Given the description of an element on the screen output the (x, y) to click on. 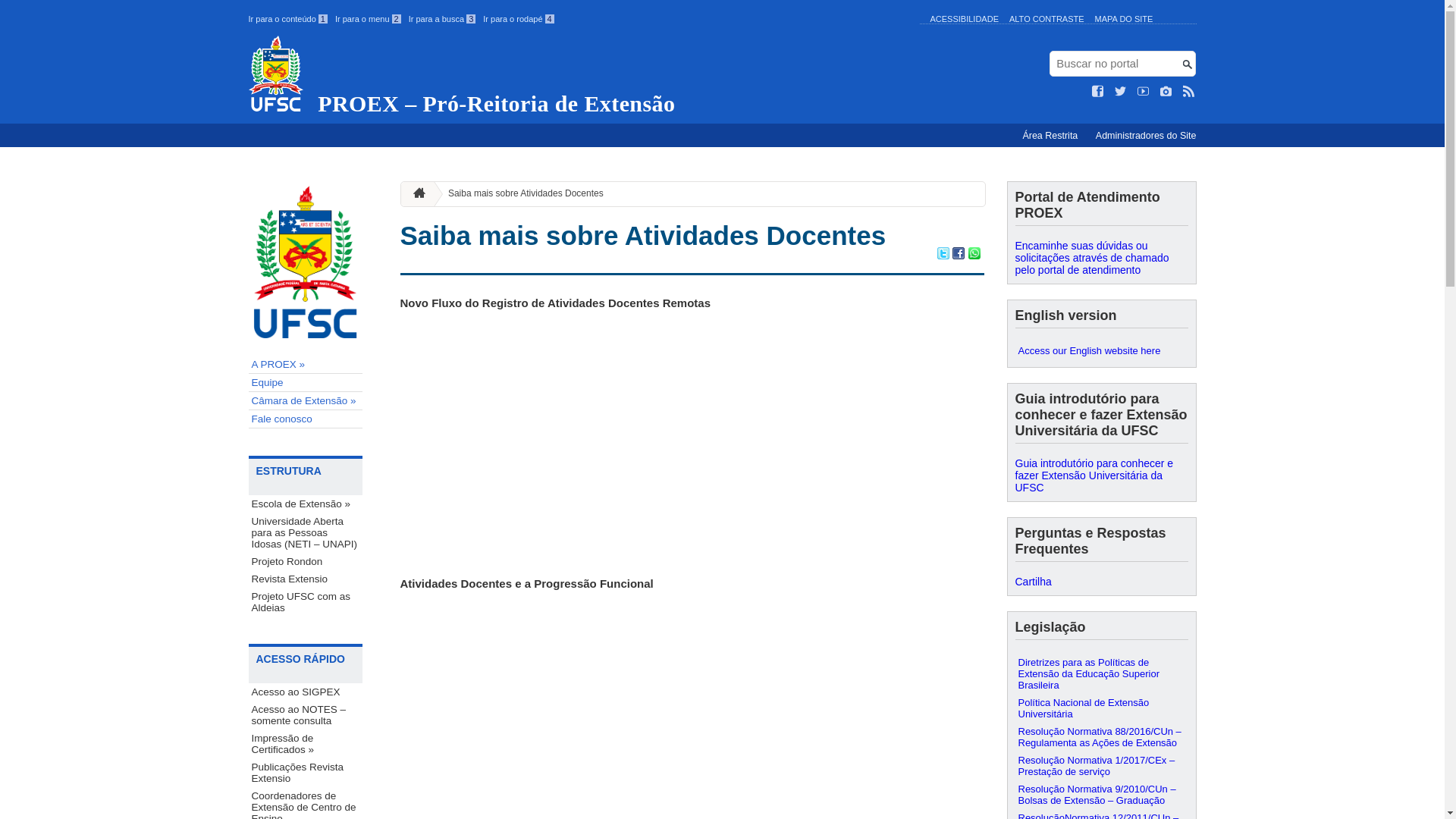
Ir para a busca 3 Element type: text (442, 18)
Veja no Instagram Element type: hover (1166, 91)
Revista Extensio Element type: text (305, 578)
Saiba mais sobre Atividades Docentes Element type: text (519, 193)
Compartilhar no Twitter Element type: hover (943, 254)
MAPA DO SITE Element type: text (1124, 18)
Saiba mais sobre Atividades Docentes Element type: text (643, 235)
Siga no Twitter Element type: hover (1120, 91)
Projeto UFSC com as Aldeias Element type: text (305, 601)
ALTO CONTRASTE Element type: text (1046, 18)
Compartilhar no WhatsApp Element type: hover (973, 254)
Cartilha Element type: text (1032, 581)
Administradores do Site Element type: text (1146, 135)
Curta no Facebook Element type: hover (1098, 91)
Equipe Element type: text (305, 382)
Acesso ao SIGPEX Element type: text (305, 691)
Ir para o menu 2 Element type: text (368, 18)
Compartilhar no Facebook Element type: hover (958, 254)
Fale conosco Element type: text (305, 419)
Access our English website here Element type: text (1100, 350)
ACESSIBILIDADE Element type: text (963, 18)
Projeto Rondon Element type: text (305, 561)
